Given the description of an element on the screen output the (x, y) to click on. 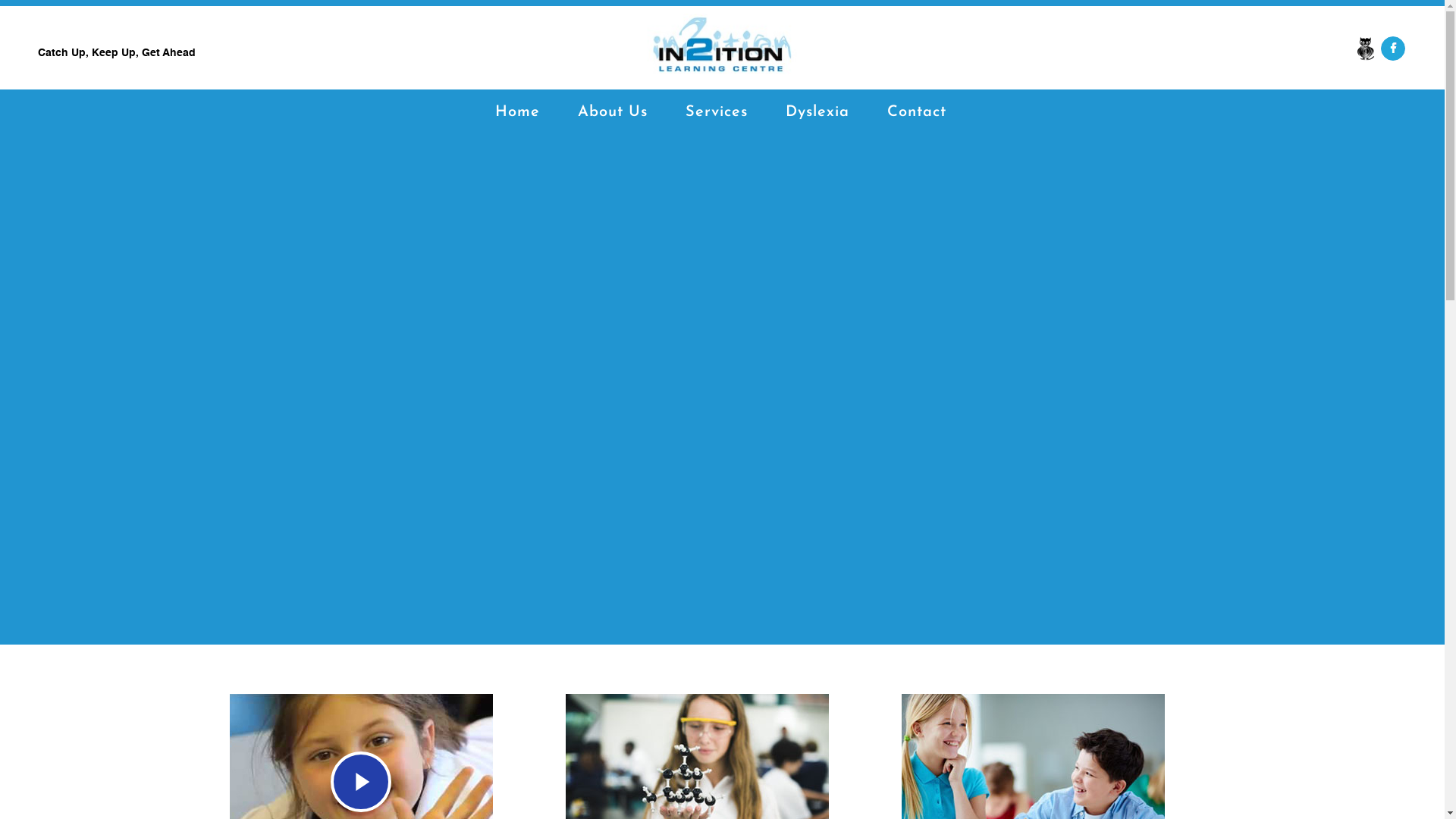
Dyslexia Element type: text (817, 111)
Contact Element type: text (916, 111)
Services Element type: text (716, 111)
About Us Element type: text (612, 111)
Home Element type: text (517, 111)
